Given the description of an element on the screen output the (x, y) to click on. 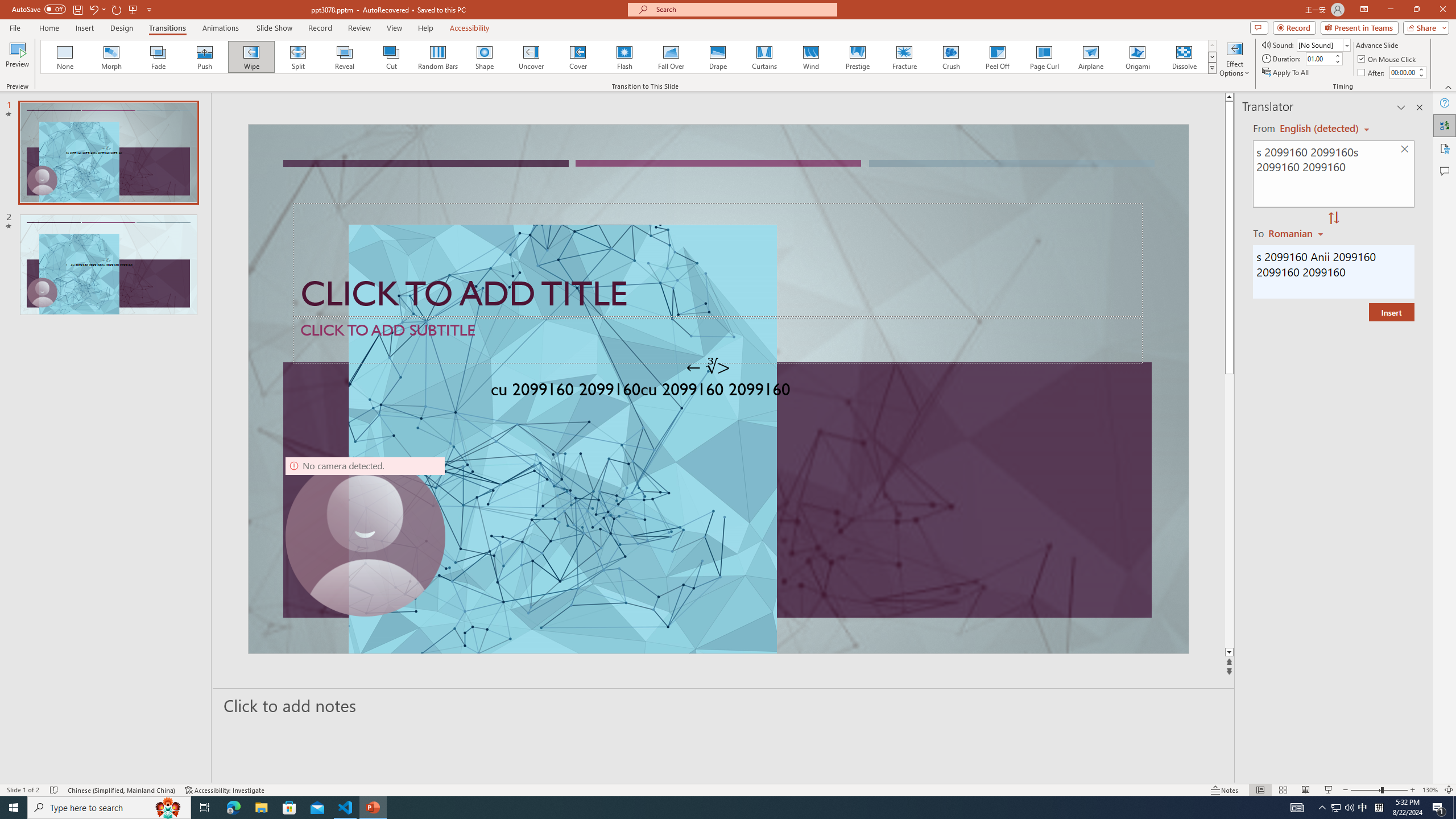
Crush (950, 56)
Peel Off (997, 56)
Curtains (764, 56)
Duration (1319, 58)
